Given the description of an element on the screen output the (x, y) to click on. 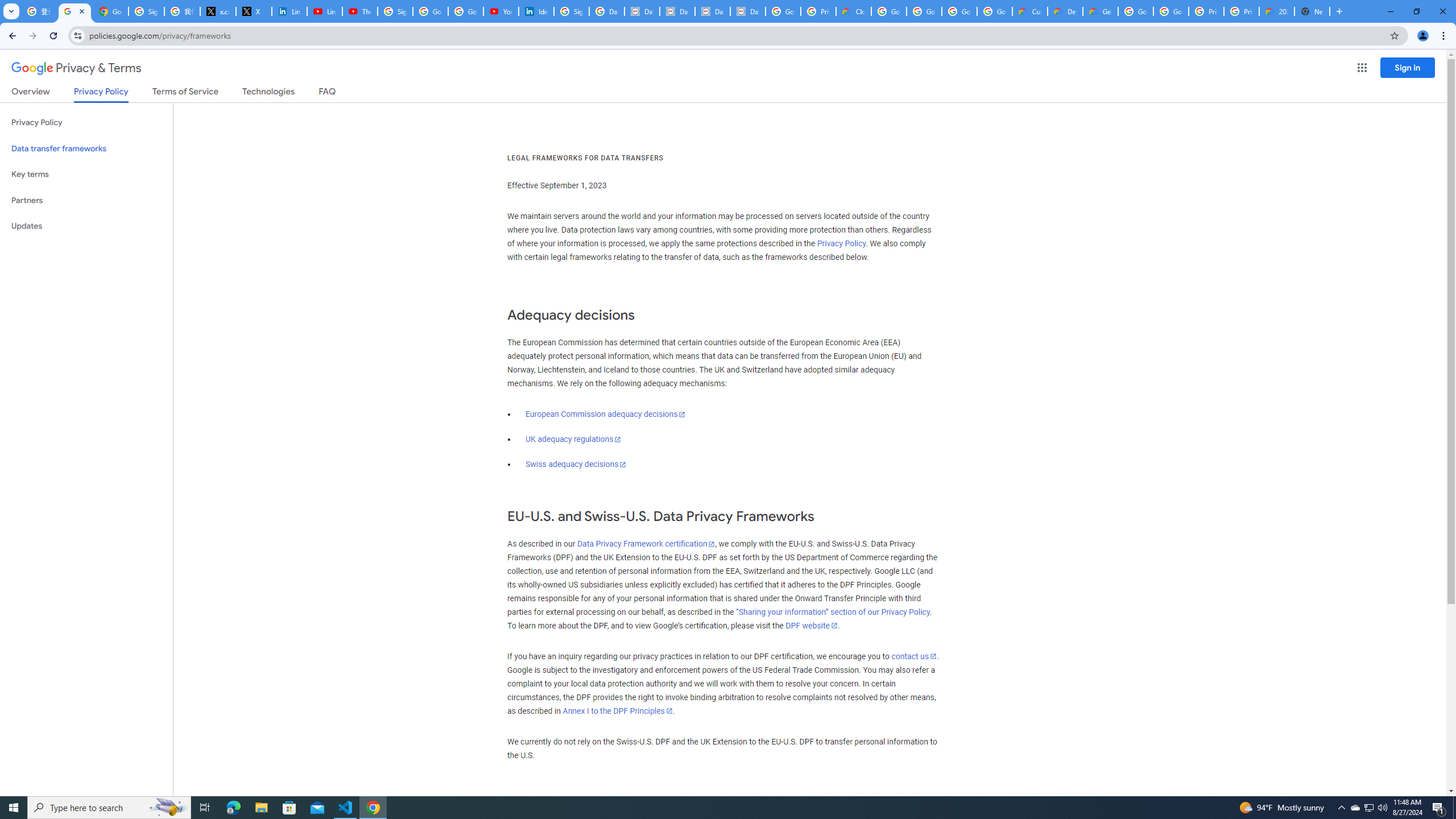
Data Privacy Framework (641, 11)
Data Privacy Framework (677, 11)
Data Privacy Framework certification (645, 543)
